Given the description of an element on the screen output the (x, y) to click on. 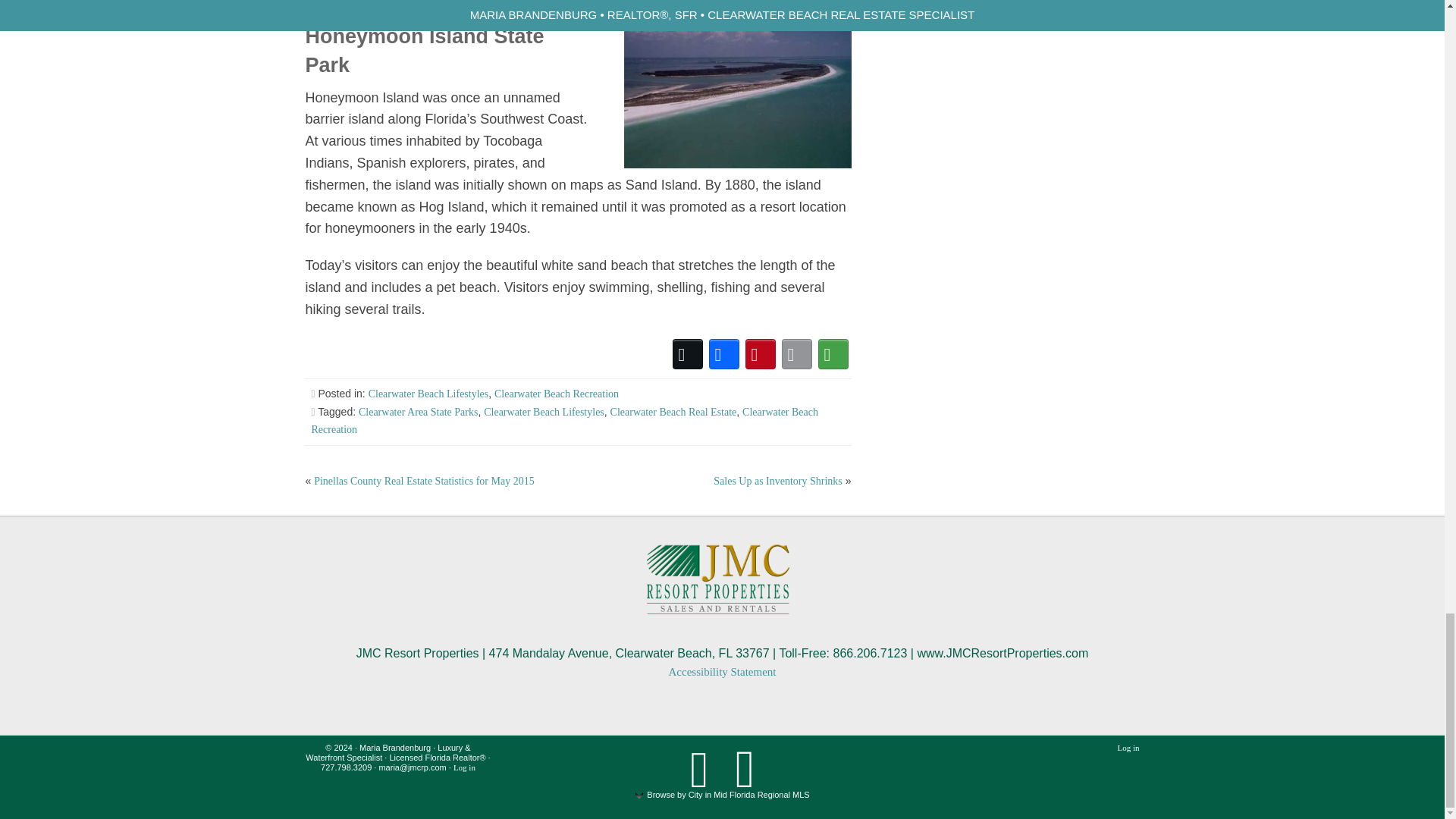
Email This (796, 353)
Pinterest (760, 353)
More Options (833, 353)
Facebook (724, 353)
